Given the description of an element on the screen output the (x, y) to click on. 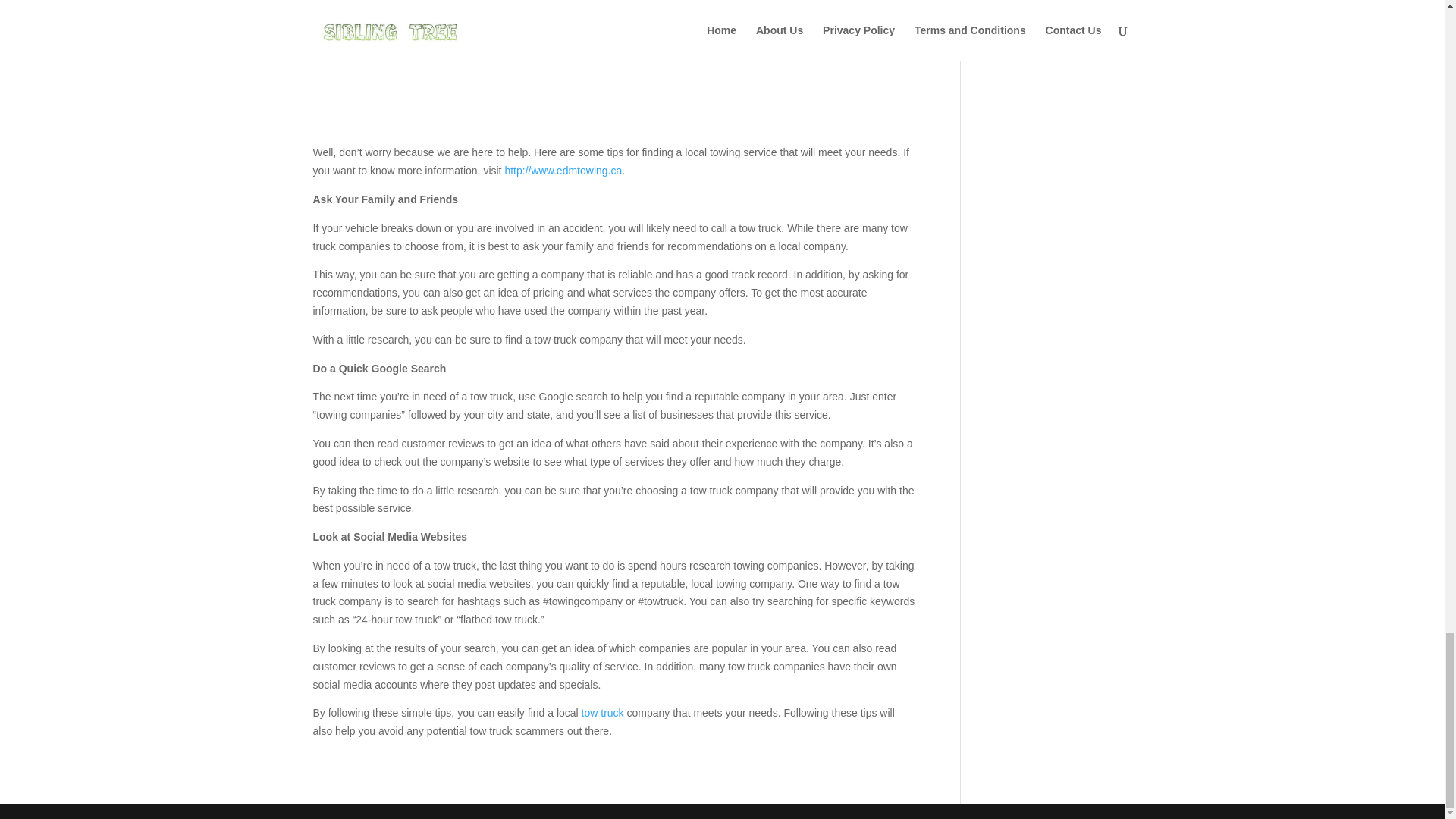
tow truck (602, 712)
